Given the description of an element on the screen output the (x, y) to click on. 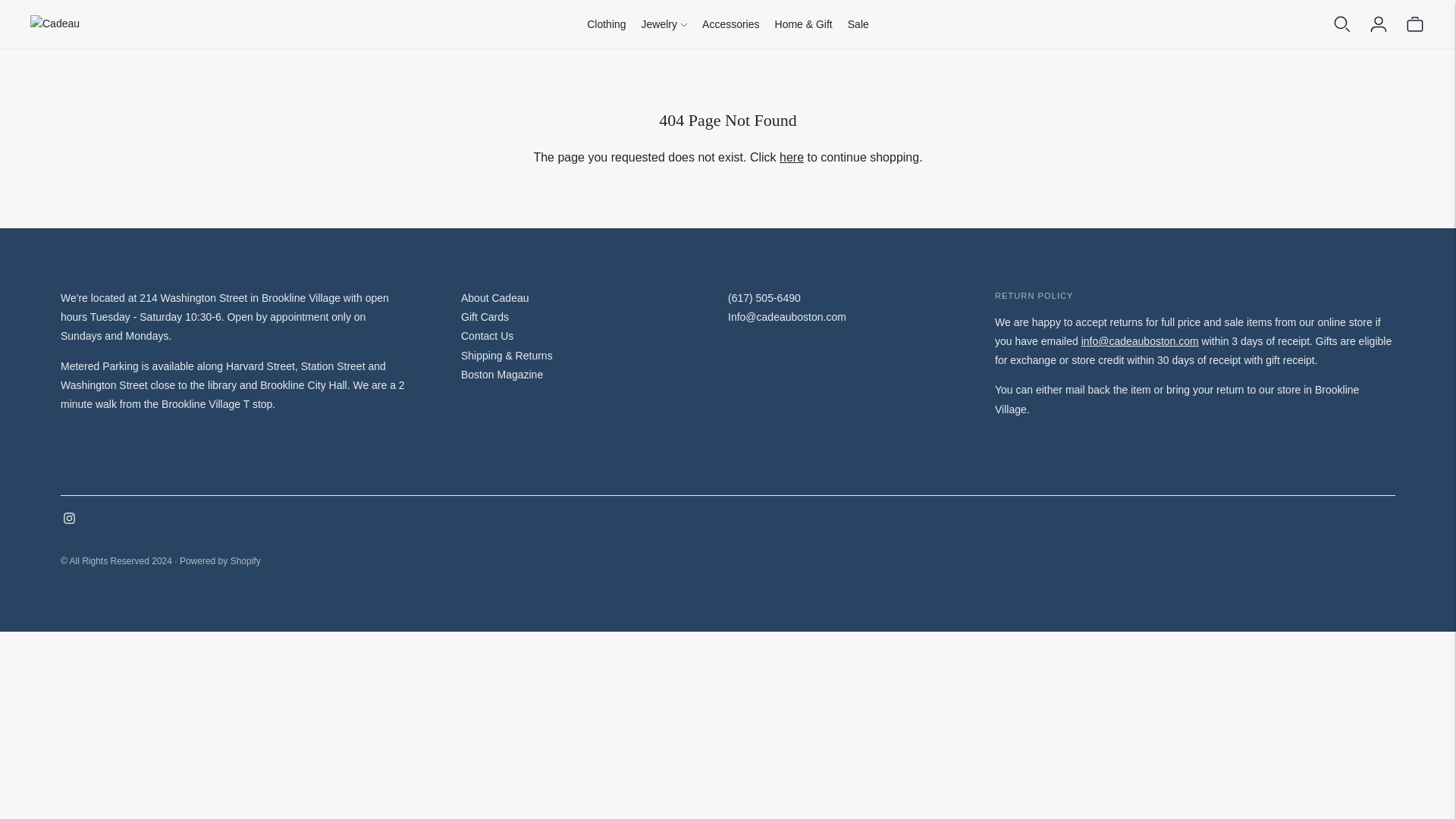
Accessories (729, 23)
Contact Us (1139, 340)
Clothing (606, 23)
Cadeau on Instagram (69, 520)
Jewelry (664, 23)
